Given the description of an element on the screen output the (x, y) to click on. 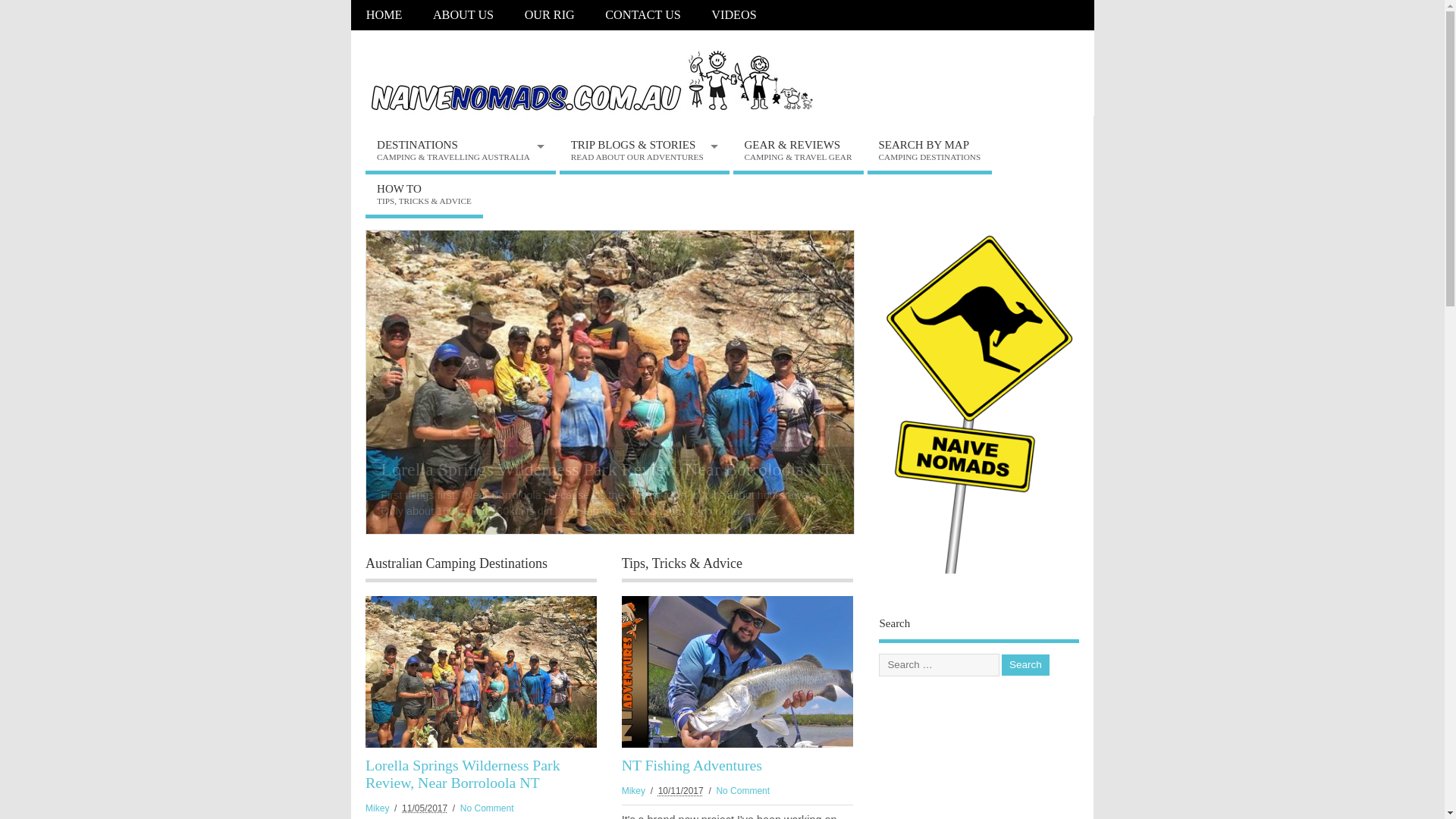
Mikey Element type: text (377, 808)
Australian Camping Destinations Element type: text (456, 563)
ABOUT US Element type: text (463, 15)
Continue reading NT Fishing Adventures Element type: hover (609, 380)
Lorella Springs Wilderness Park Review, Near Borroloola NT Element type: text (462, 773)
Search for: Element type: hover (938, 664)
DESTINATIONS
CAMPING & TRAVELLING AUSTRALIA Element type: text (460, 153)
CONTACT US Element type: text (642, 15)
NT Fishing Adventures Element type: text (465, 469)
VIDEOS Element type: text (733, 15)
Tips, Tricks & Advice Element type: text (681, 563)
SEARCH BY MAP
CAMPING DESTINATIONS Element type: text (929, 153)
Search Element type: text (1025, 665)
HOME Element type: text (383, 15)
Lorella Springs Wilderness Park Review, Near Borroloola NT Element type: hover (480, 672)
NT Fishing Adventures Element type: text (691, 764)
Mikey Element type: text (633, 790)
NT Fishing Adventures Element type: hover (737, 672)
No Comment Element type: text (487, 808)
TRIP BLOGS & STORIES
READ ABOUT OUR ADVENTURES Element type: text (644, 153)
OUR RIG Element type: text (548, 15)
GEAR & REVIEWS
CAMPING & TRAVEL GEAR Element type: text (797, 153)
HOW TO
TIPS, TRICKS & ADVICE Element type: text (424, 196)
No Comment Element type: text (742, 790)
